Given the description of an element on the screen output the (x, y) to click on. 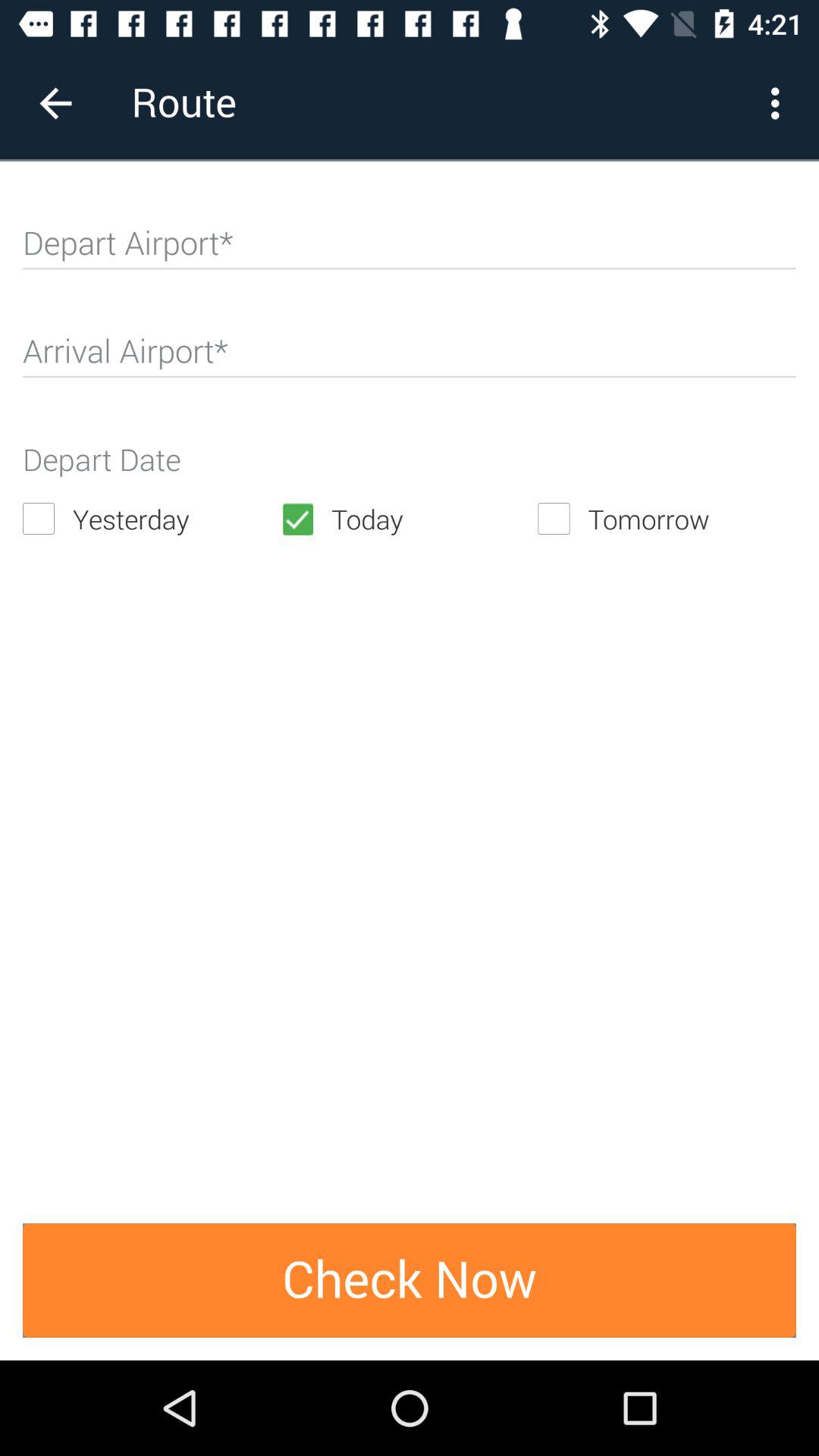
a blank text field for writing in the departing airport information (409, 249)
